Given the description of an element on the screen output the (x, y) to click on. 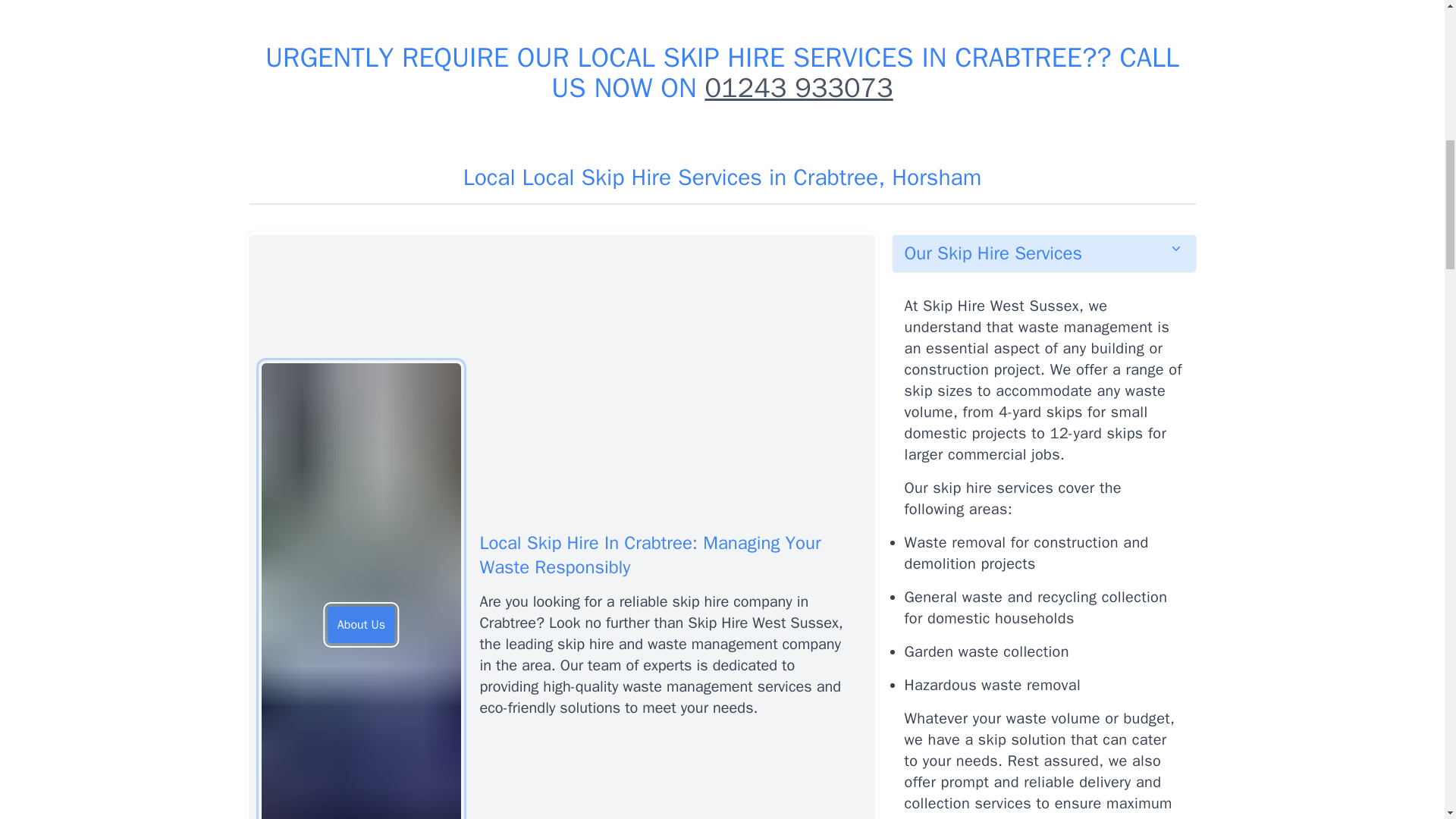
Our Skip Hire Services (1043, 253)
About Us (361, 624)
01243 933073 (798, 87)
